Given the description of an element on the screen output the (x, y) to click on. 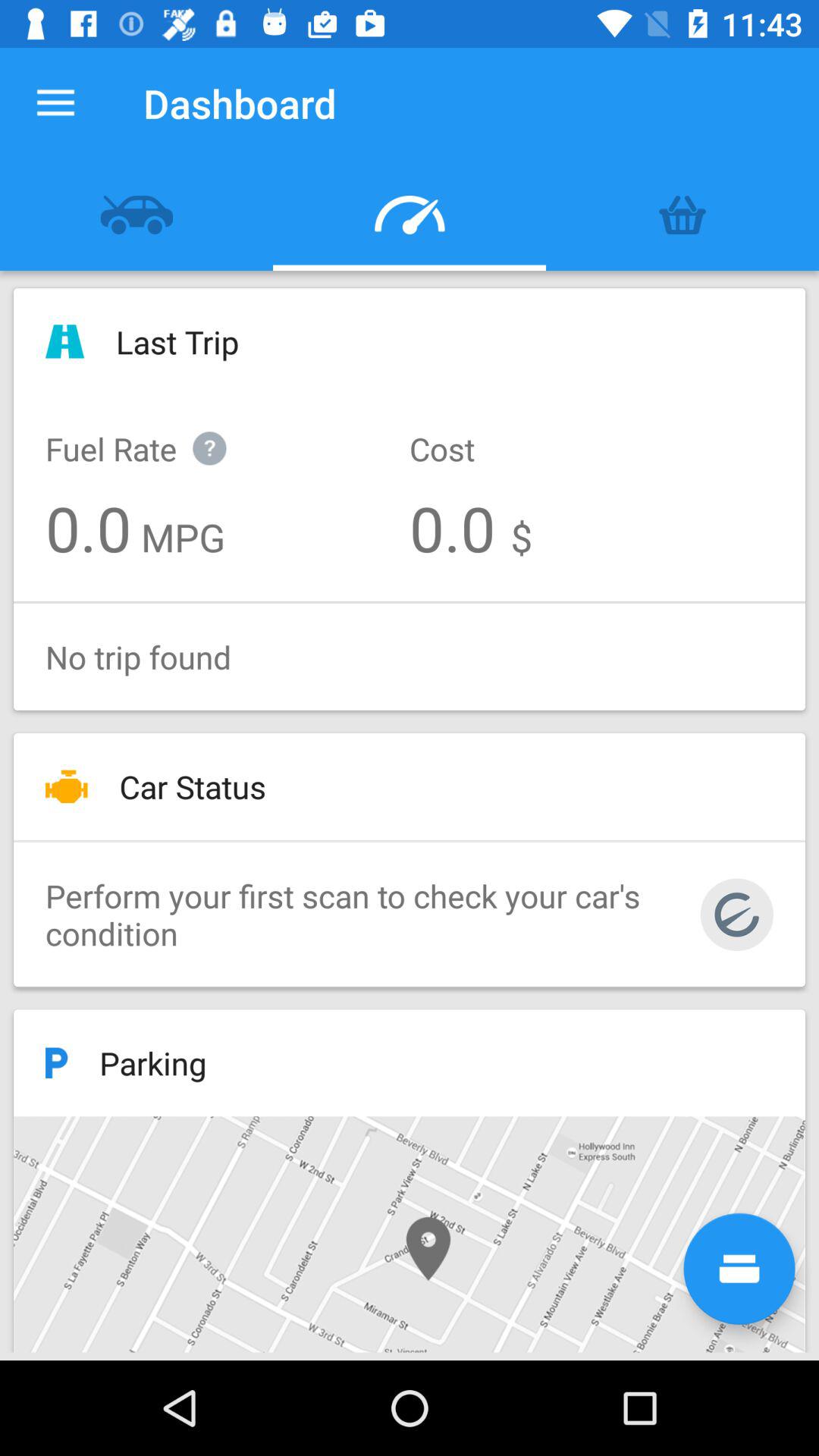
open the item next to the dashboard (55, 103)
